Given the description of an element on the screen output the (x, y) to click on. 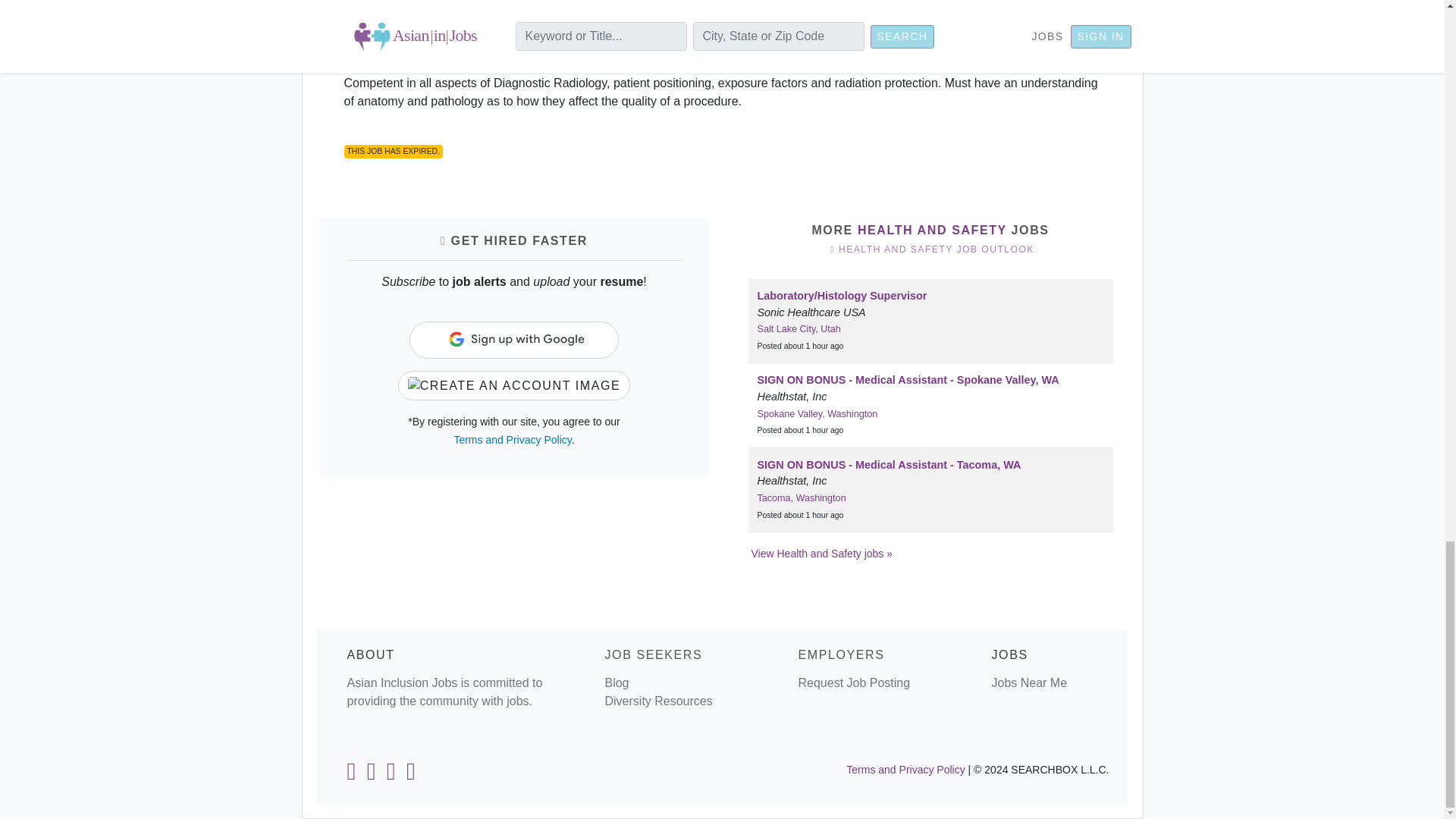
Link to LinkedIn (350, 775)
Diversity Resources (657, 700)
ABOUT (370, 654)
Salt Lake City, Utah (798, 328)
Link to Facebook (371, 775)
Blog (616, 682)
Tacoma, Washington (801, 498)
Terms and Privacy Policy (511, 439)
